Given the description of an element on the screen output the (x, y) to click on. 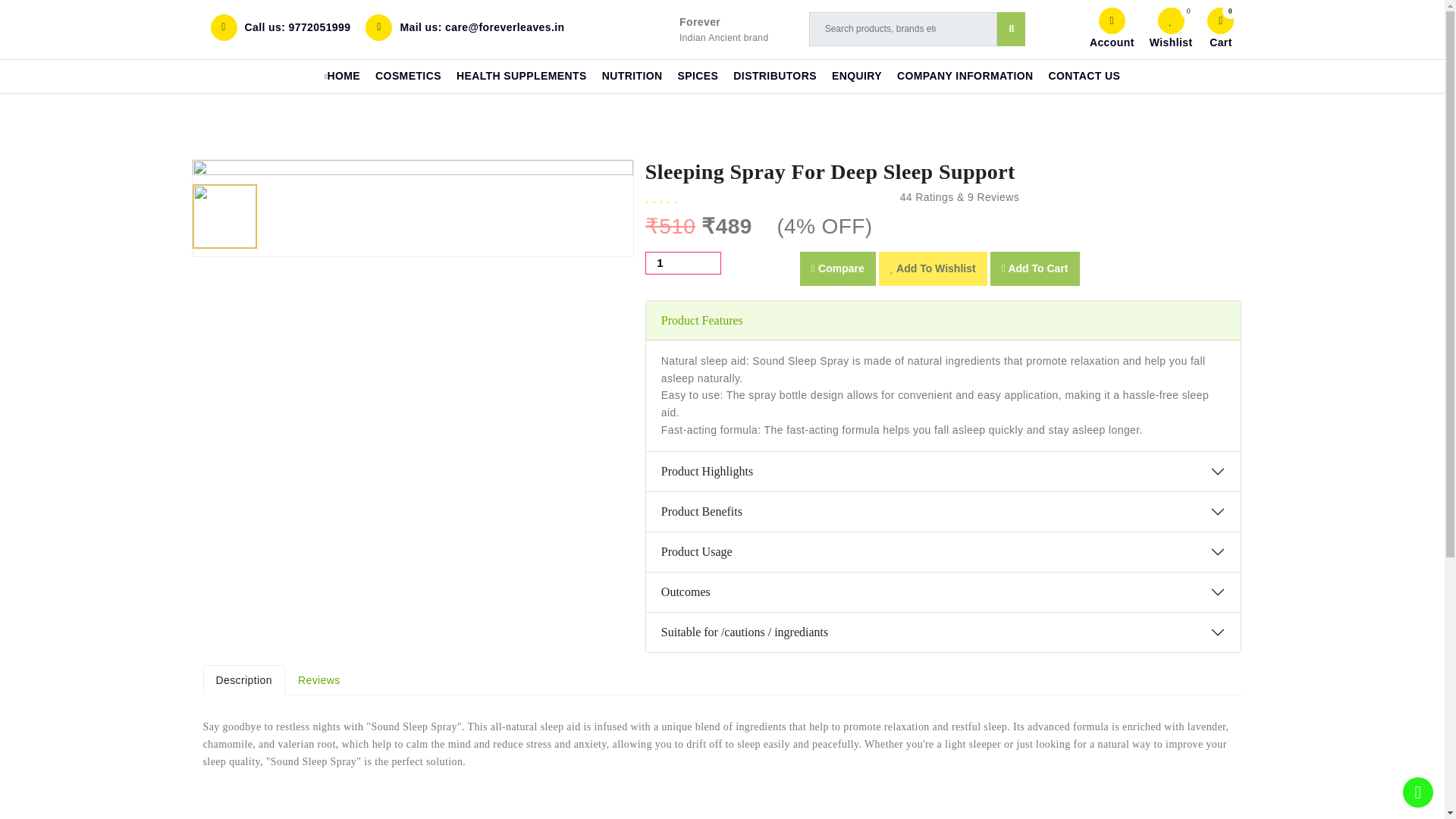
Compare (837, 268)
DISTRIBUTORS (774, 75)
SPICES (697, 75)
COMPANY INFORMATION (965, 75)
Call us: 9772051999 (280, 27)
Add To Wishlist (933, 268)
NUTRITION (631, 75)
HOME (342, 75)
COSMETICS (408, 75)
HEALTH SUPPLEMENTS (521, 75)
Reviews (319, 680)
Add To Cart (1035, 268)
ENQUIRY (856, 75)
Description (244, 680)
